Given the description of an element on the screen output the (x, y) to click on. 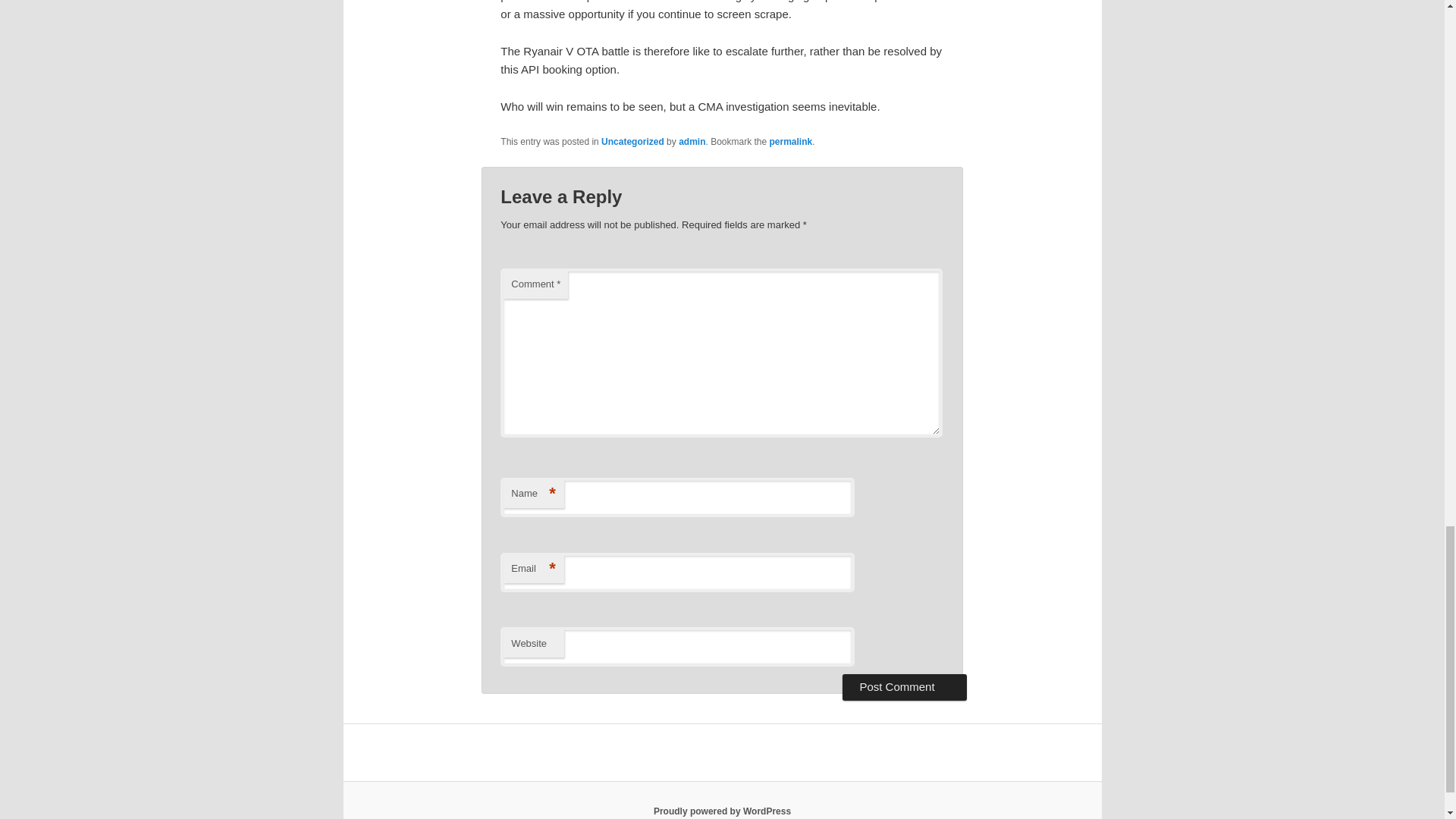
Post Comment (904, 687)
permalink (791, 140)
admin (691, 140)
Proudly powered by WordPress (721, 810)
Semantic Personal Publishing Platform (721, 810)
Post Comment (904, 687)
Uncategorized (632, 140)
